Given the description of an element on the screen output the (x, y) to click on. 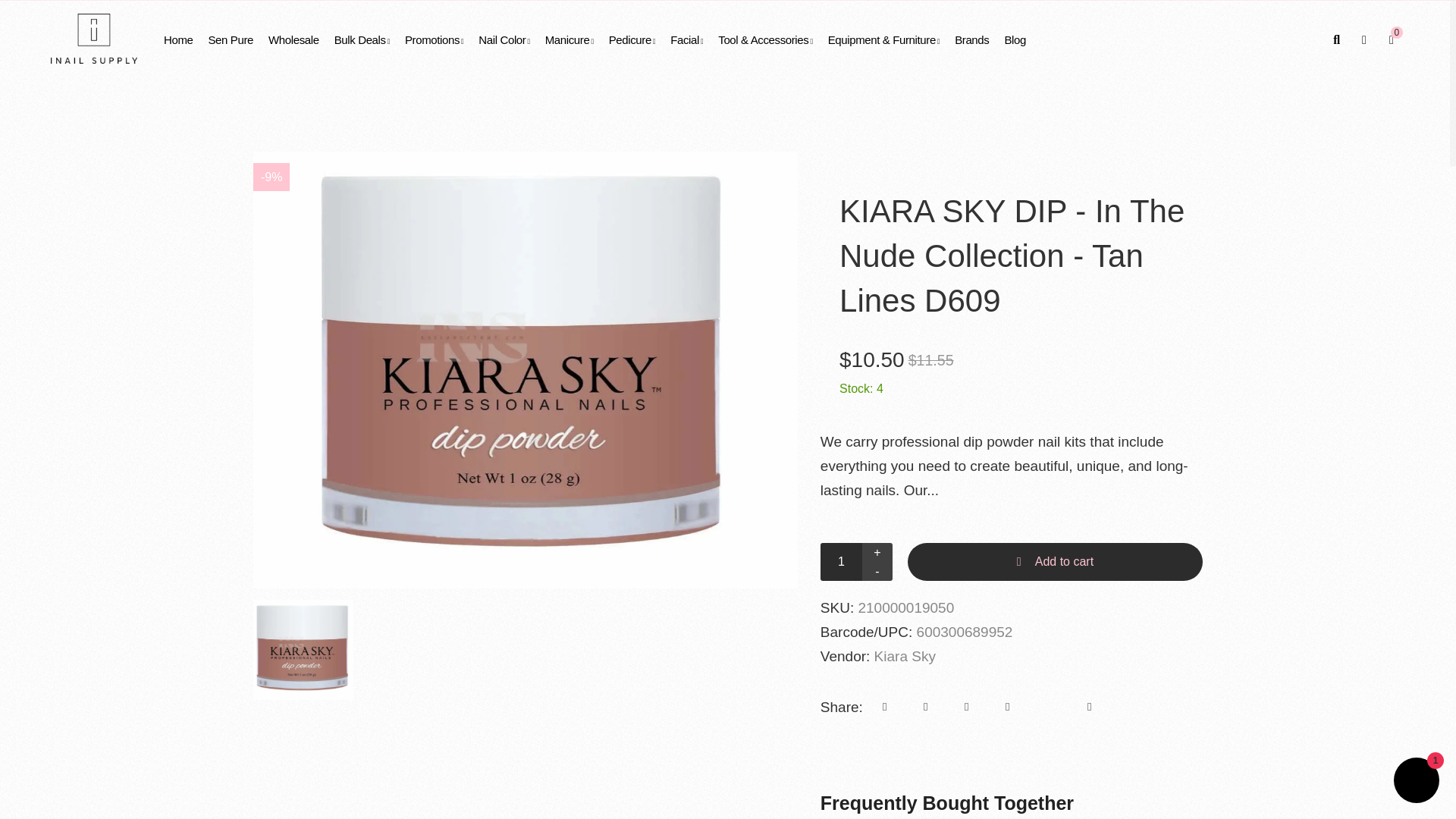
1 (841, 561)
Sale (271, 176)
Quantity (856, 561)
Shopify online store chat (1416, 781)
